Given the description of an element on the screen output the (x, y) to click on. 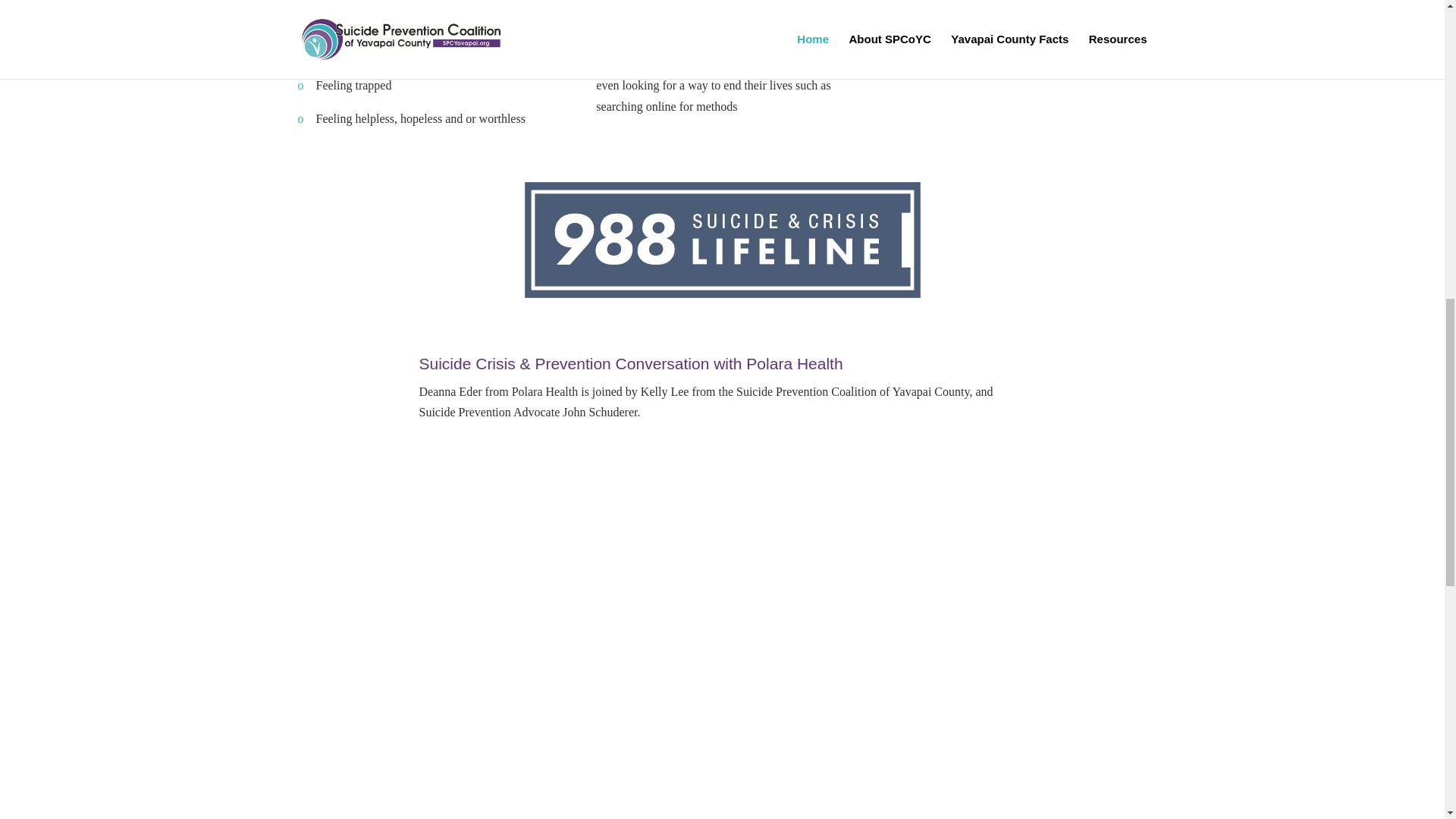
988-horizontal-slate (722, 239)
